Given the description of an element on the screen output the (x, y) to click on. 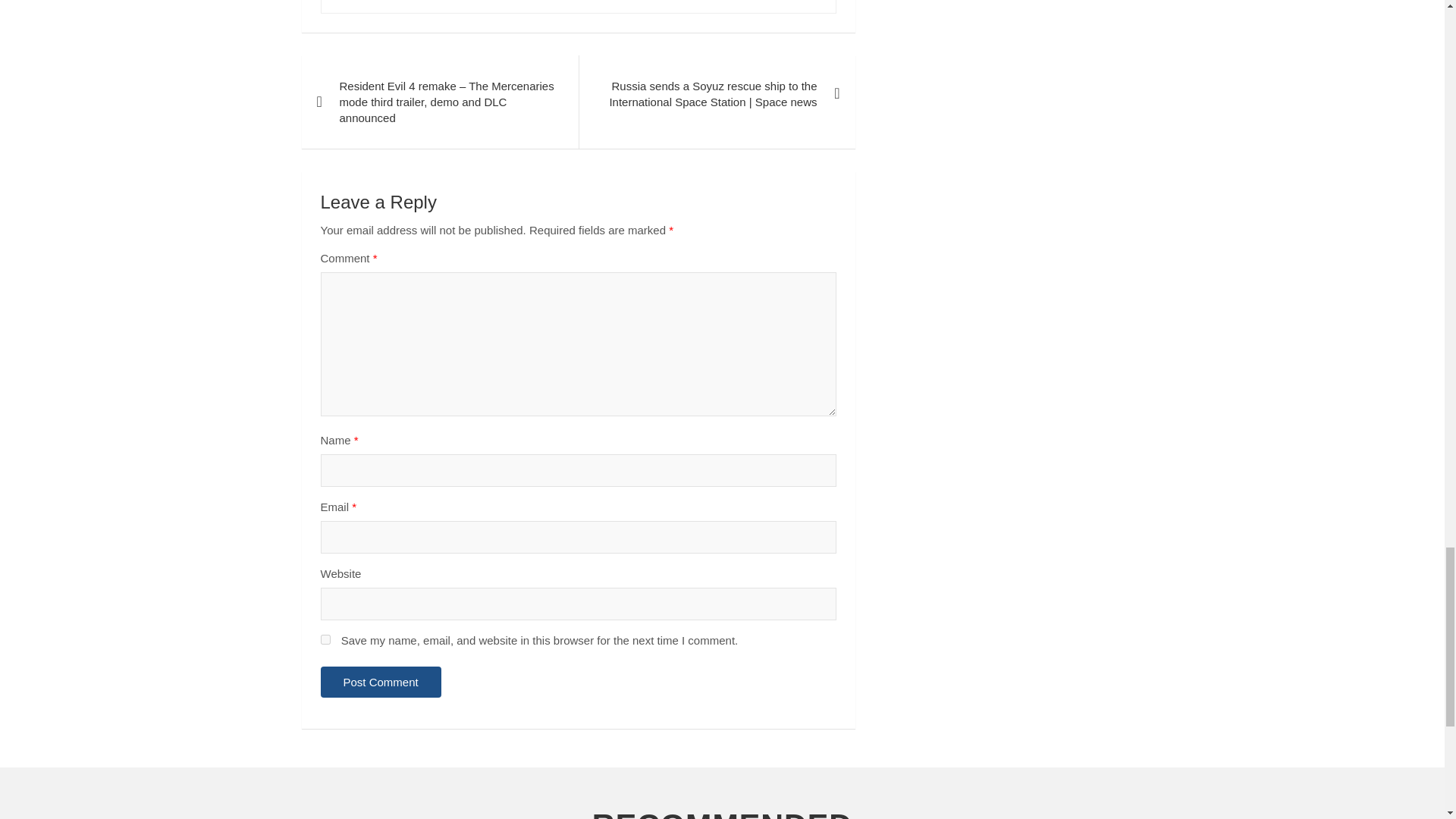
yes (325, 638)
Post Comment (380, 680)
Post Comment (380, 680)
